Given the description of an element on the screen output the (x, y) to click on. 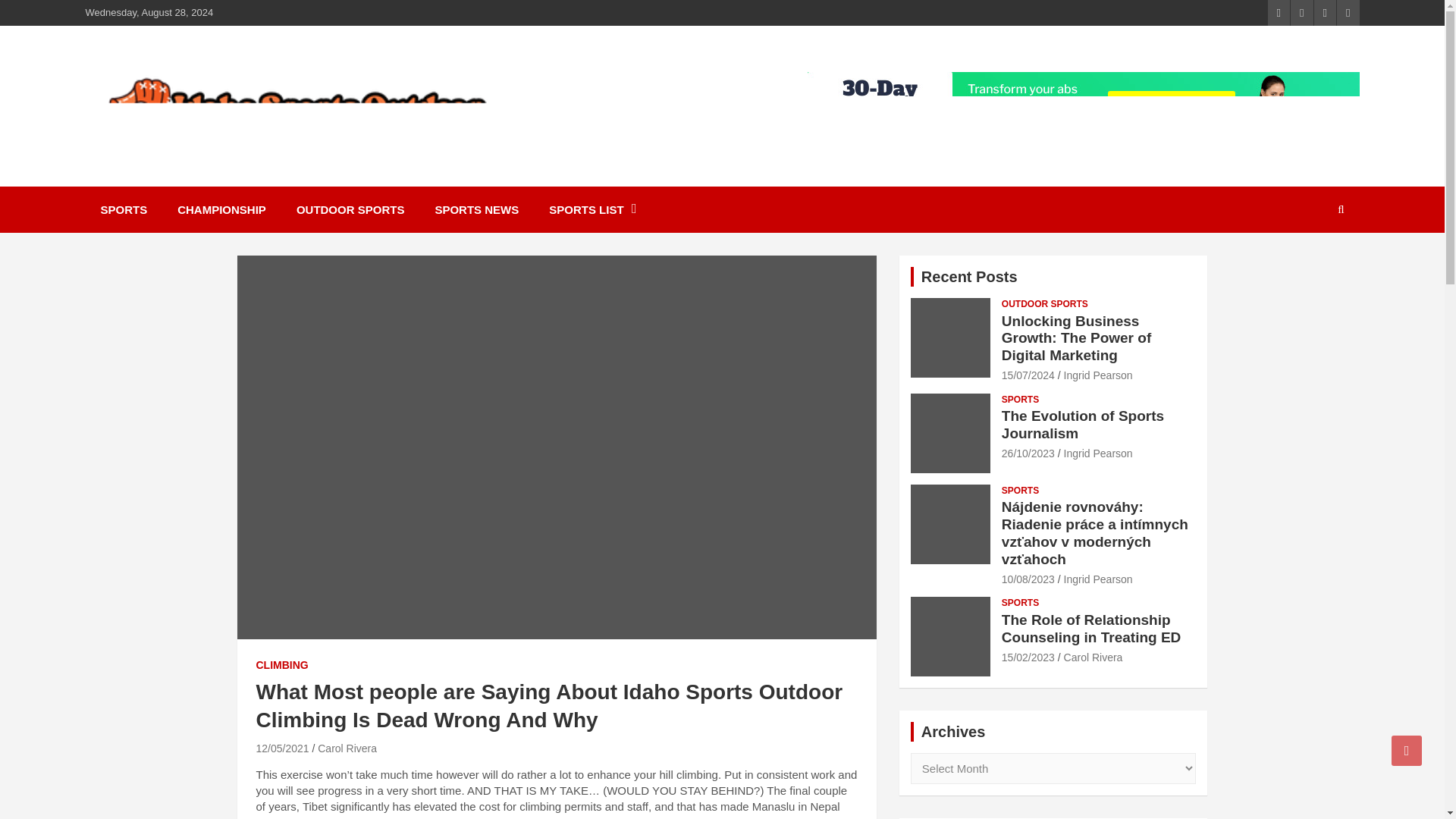
Unlocking Business Growth: The Power of Digital Marketing (1027, 375)
Carol Rivera (347, 748)
SPORTS (1020, 490)
Ingrid Pearson (1098, 375)
SPORTS (122, 209)
Idaho Sports Outdoor (240, 160)
SPORTS (1020, 399)
CHAMPIONSHIP (221, 209)
Unlocking Business Growth: The Power of Digital Marketing (1076, 337)
